Given the description of an element on the screen output the (x, y) to click on. 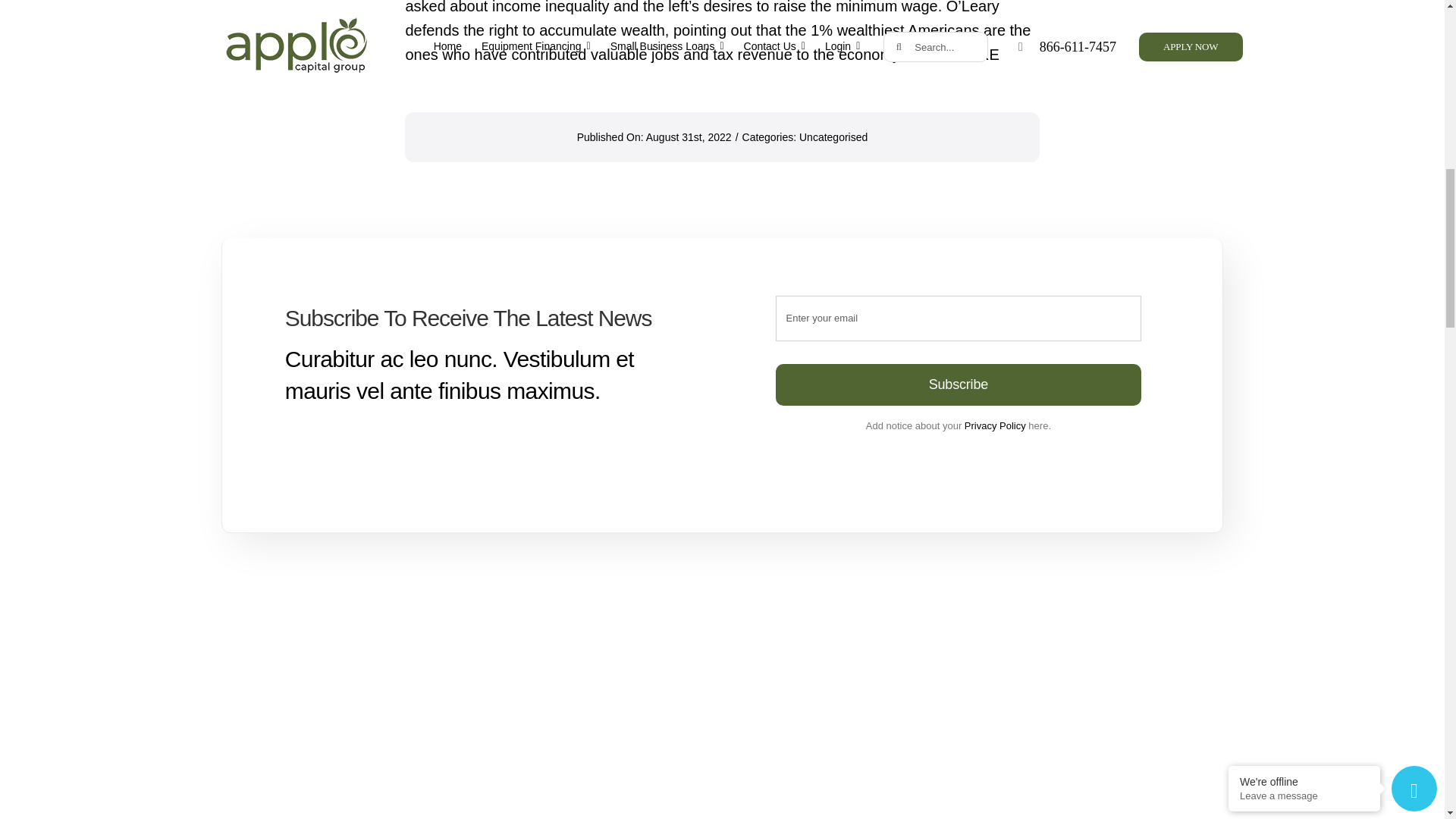
Subscribe (958, 349)
